Given the description of an element on the screen output the (x, y) to click on. 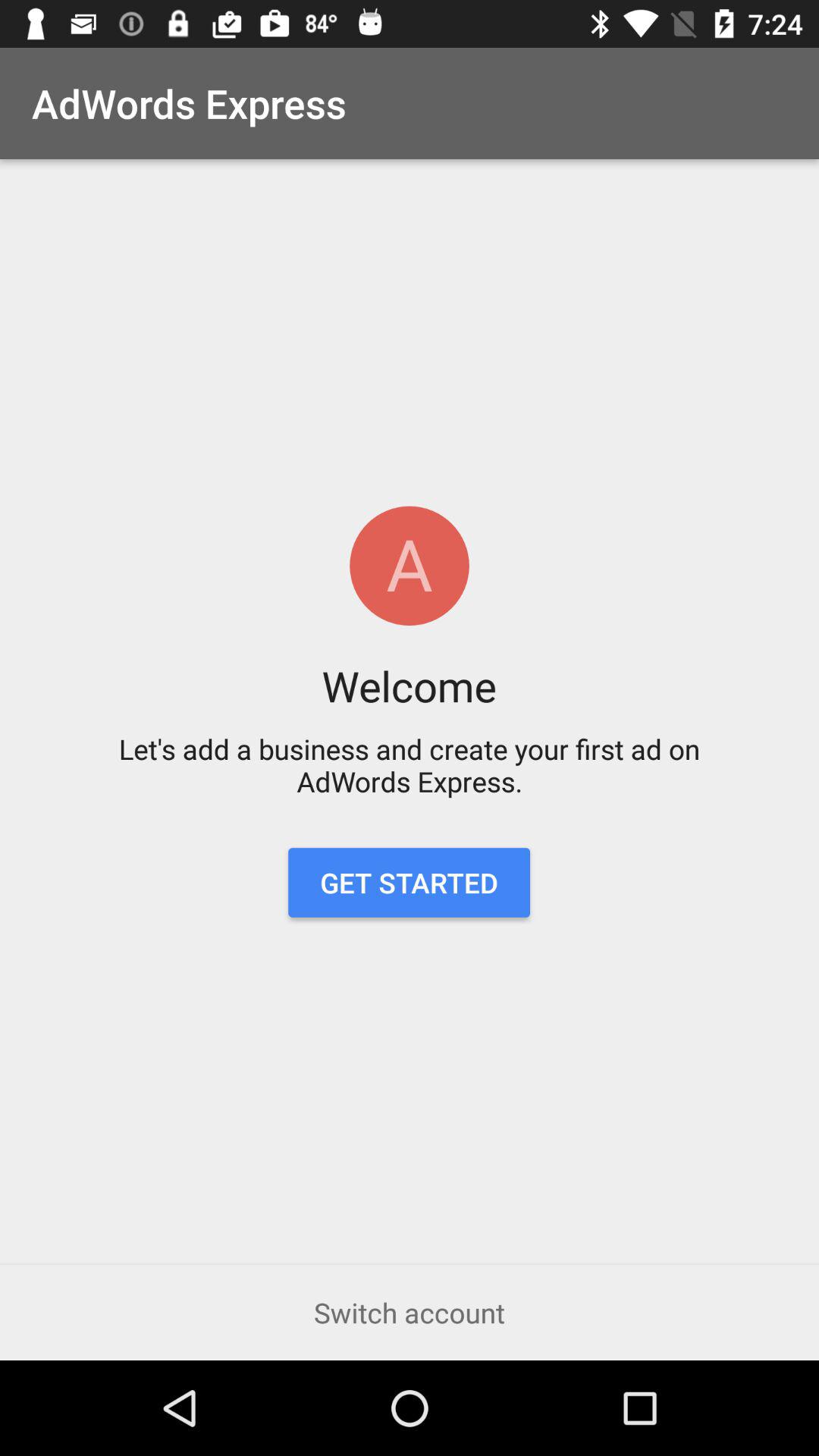
flip until the switch account (409, 1312)
